Given the description of an element on the screen output the (x, y) to click on. 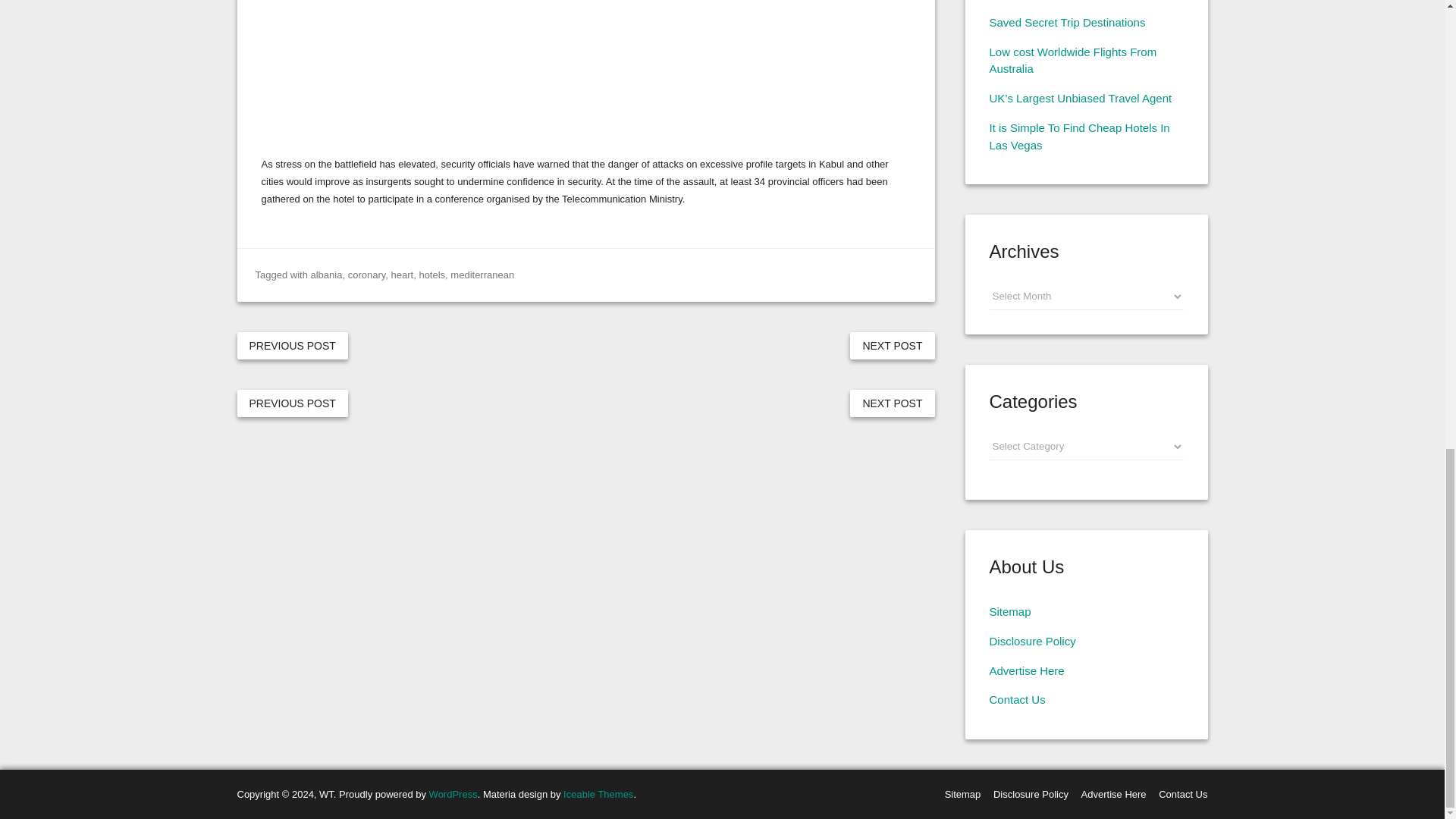
Free and Premium WordPress Themes (598, 794)
Semantic Personal Publishing Platform (453, 794)
